Given the description of an element on the screen output the (x, y) to click on. 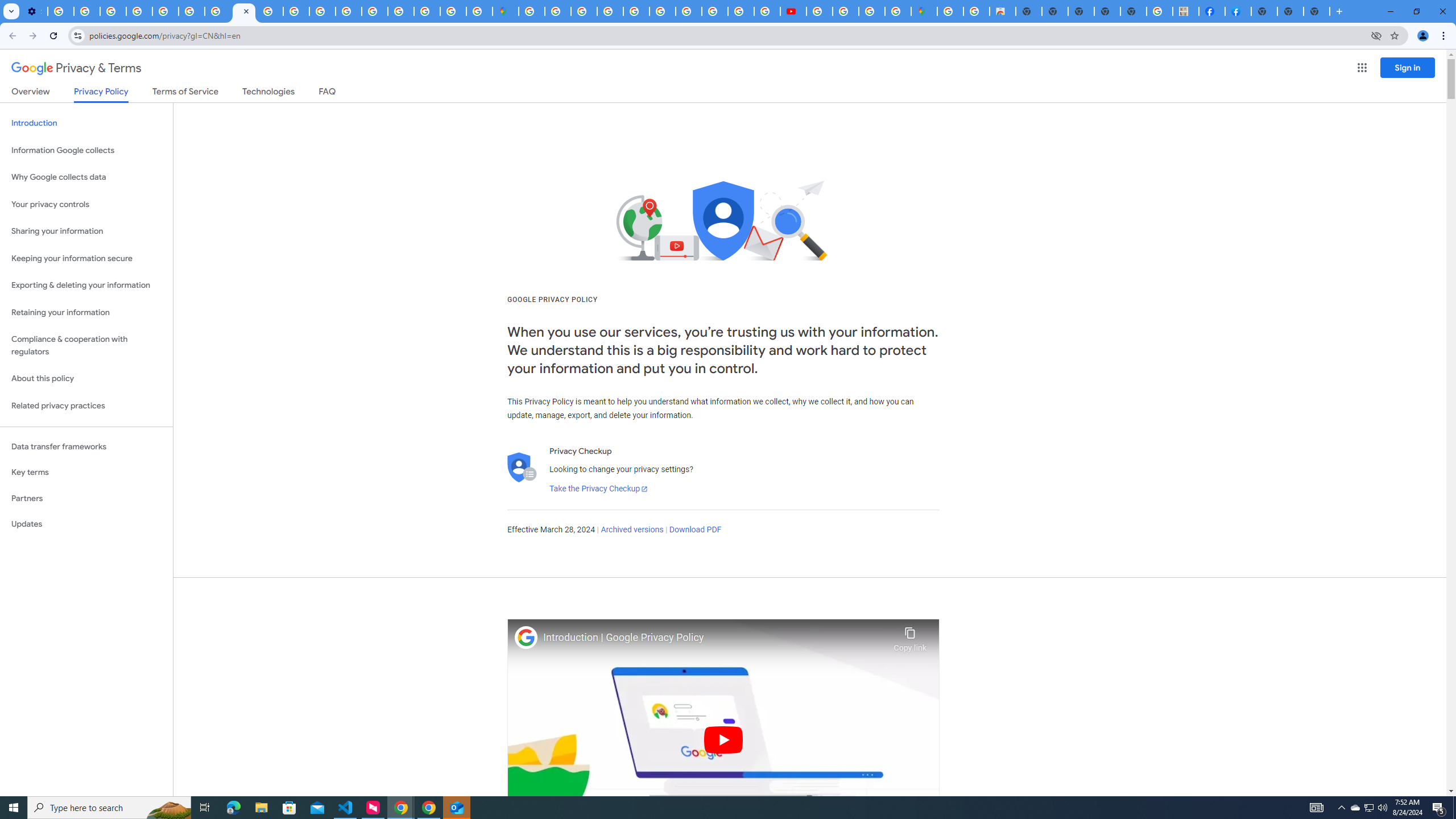
Keeping your information secure (86, 258)
Compliance & cooperation with regulators (86, 345)
